Given the description of an element on the screen output the (x, y) to click on. 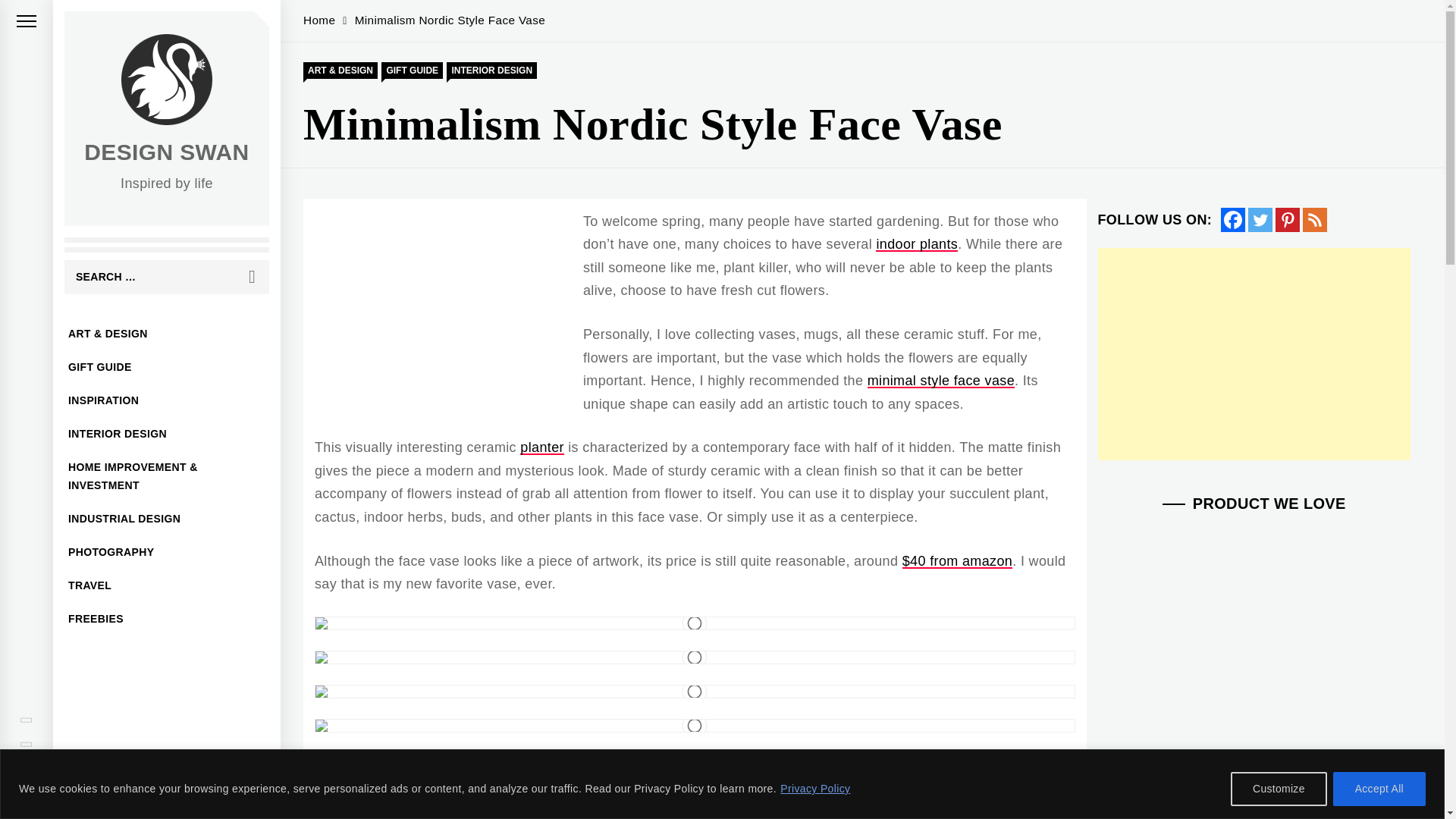
TRAVEL (166, 584)
Home (318, 19)
Search (251, 277)
Minimalism Nordic Style Face Vase (443, 19)
Customize (1278, 788)
3rd party ad content (442, 322)
DESIGN SWAN (166, 151)
Privacy Policy (814, 788)
Pinterest (1287, 219)
Advertisement (1253, 354)
